Given the description of an element on the screen output the (x, y) to click on. 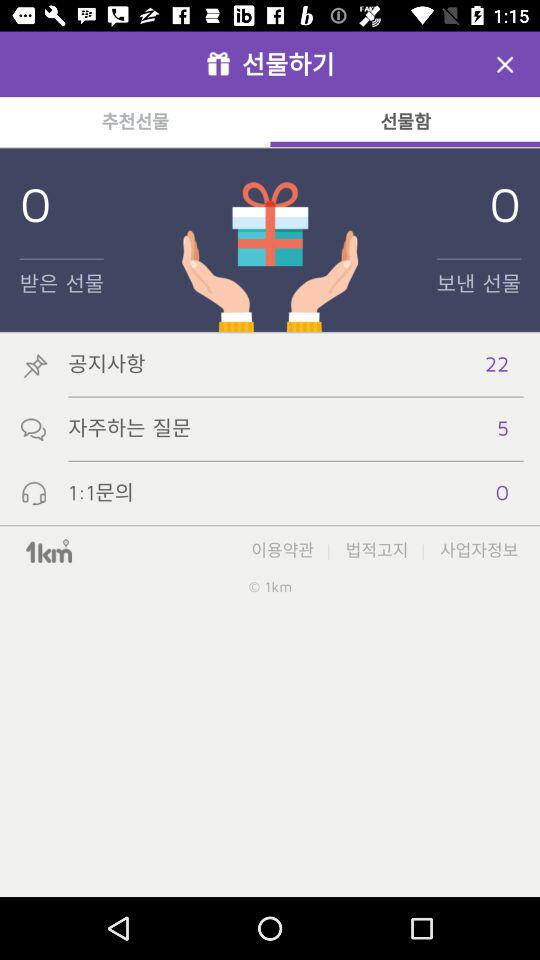
close screen (505, 64)
